Given the description of an element on the screen output the (x, y) to click on. 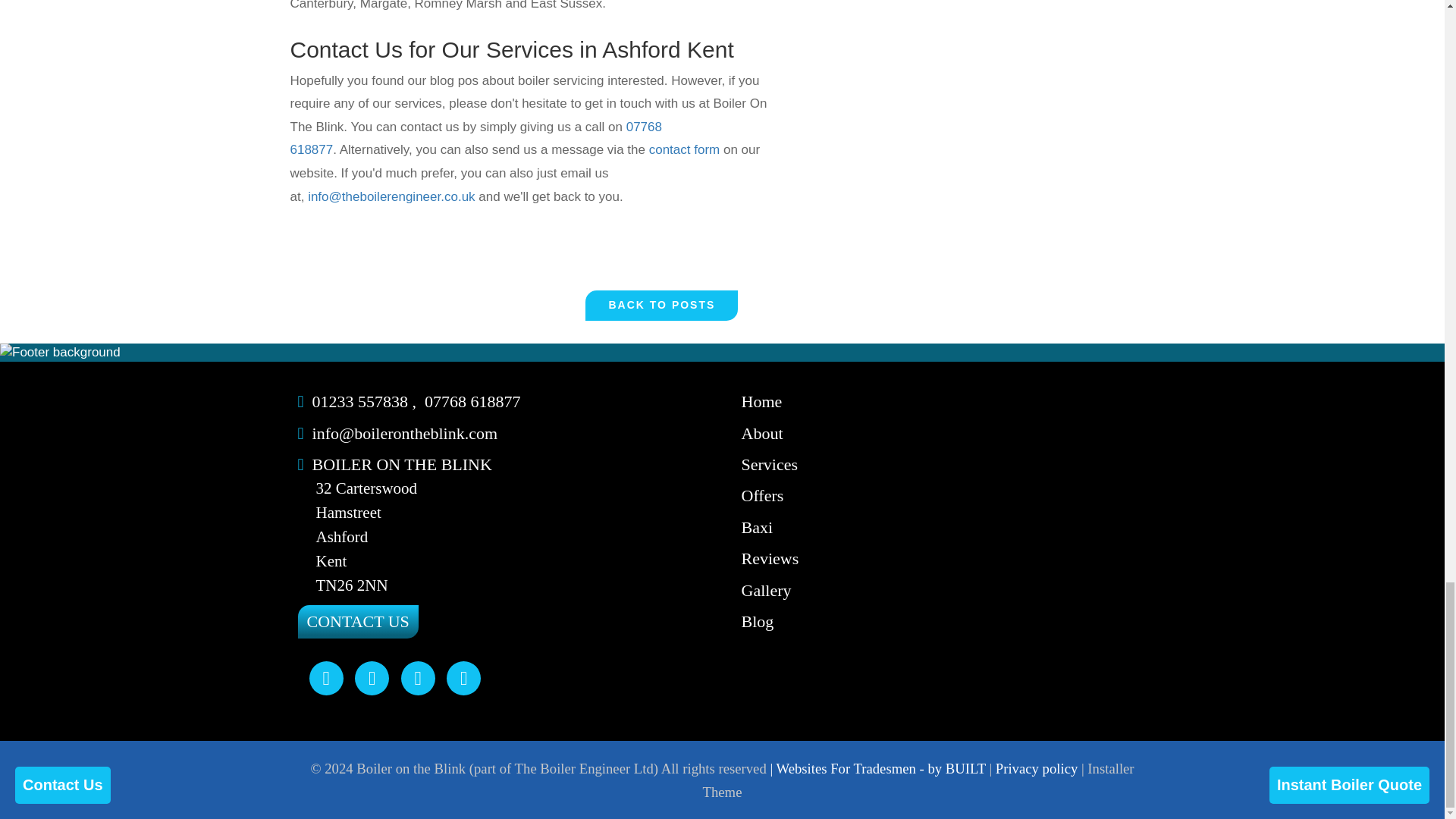
07768 618877 (475, 138)
contact form (684, 149)
Back to Posts (661, 305)
